Given the description of an element on the screen output the (x, y) to click on. 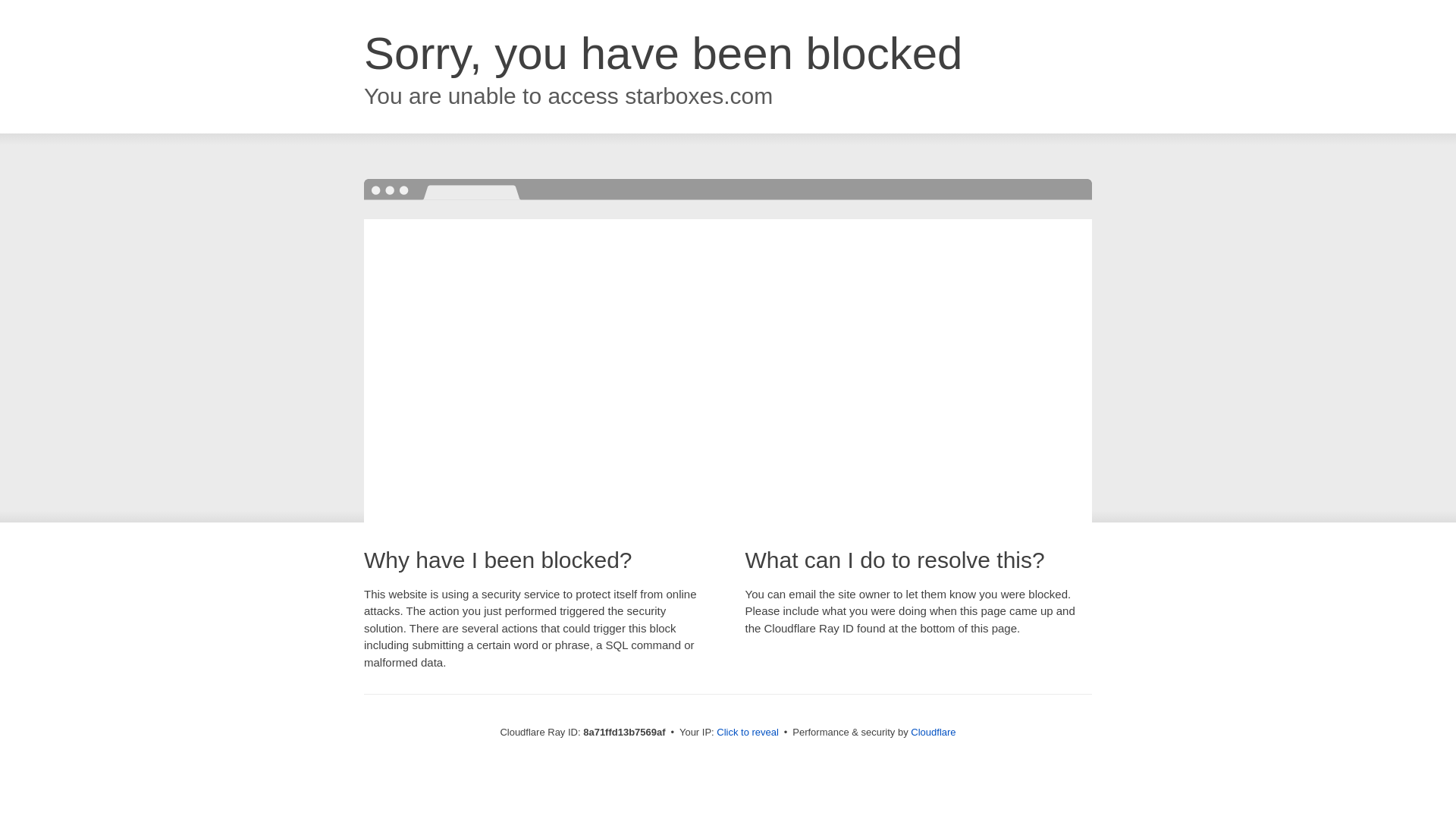
Cloudflare (933, 731)
Click to reveal (747, 732)
